Given the description of an element on the screen output the (x, y) to click on. 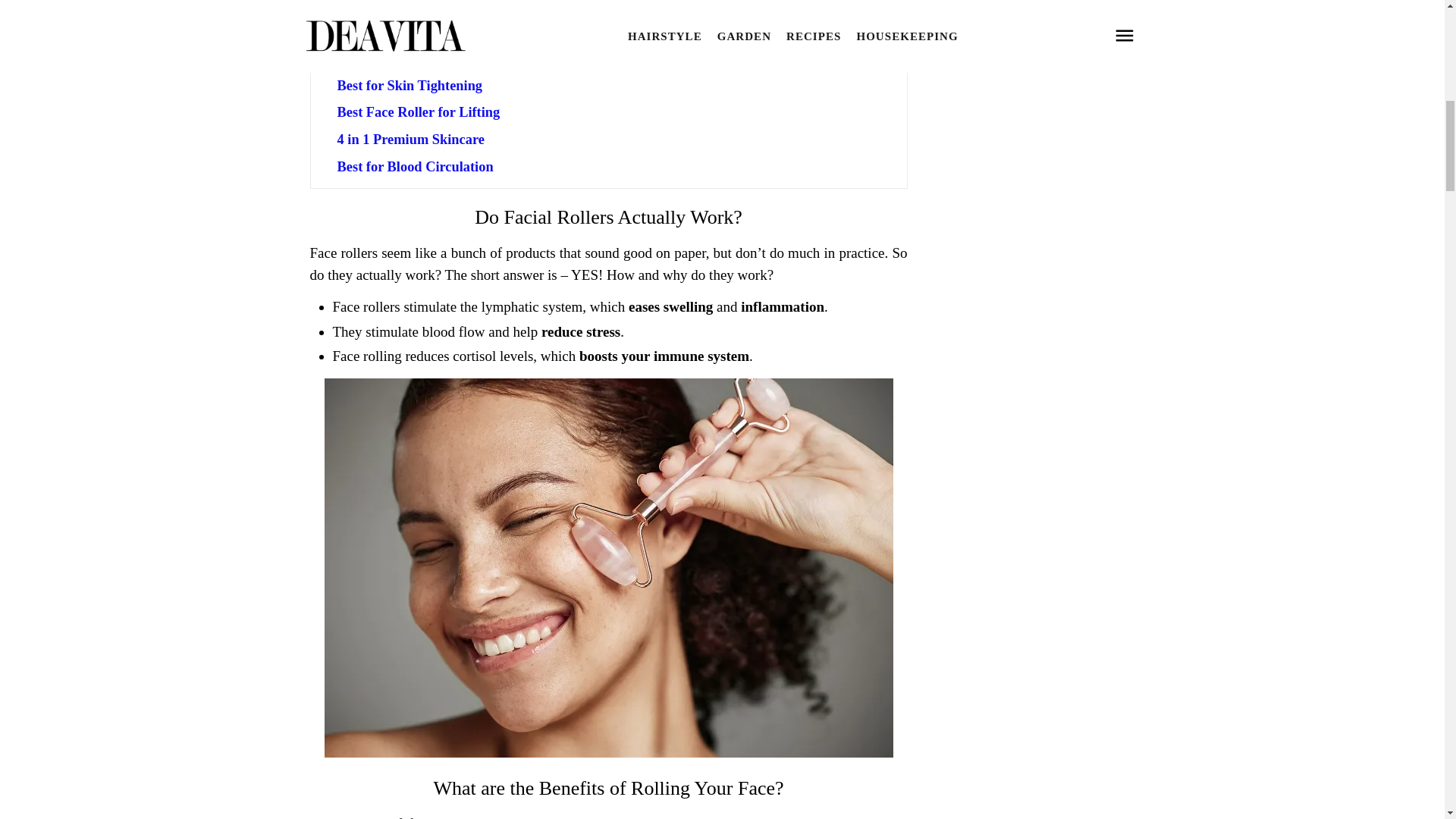
Advertisement (1032, 84)
Woman face smile skincare rose quartz jade roller (608, 752)
